Given the description of an element on the screen output the (x, y) to click on. 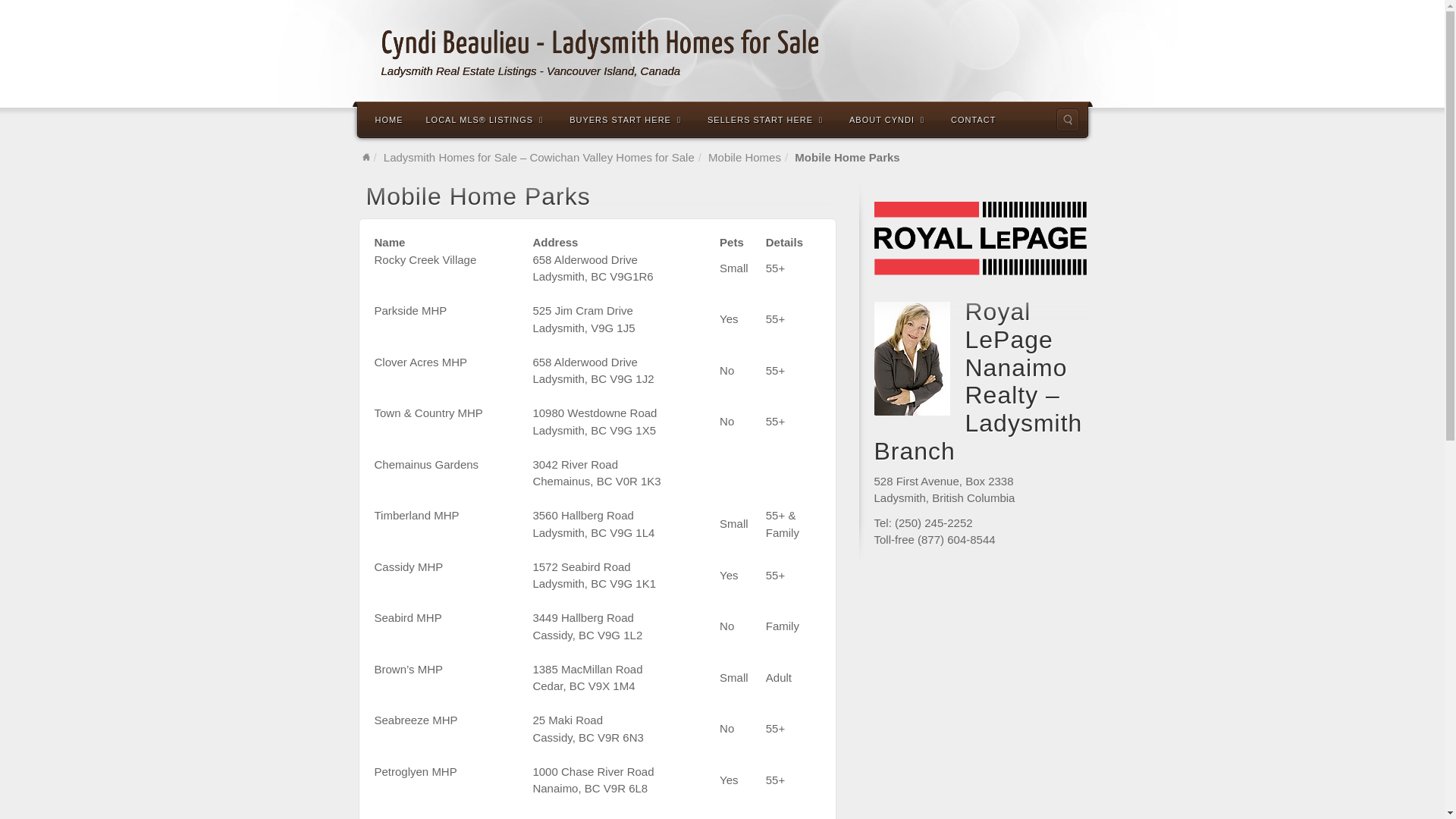
HOME Element type: text (389, 118)
Search the site... Element type: text (1066, 119)
SELLERS START HERE Element type: text (766, 118)
BUYERS START HERE Element type: text (627, 118)
Home Element type: text (366, 157)
CONTACT Element type: text (973, 118)
Cyndi Beaulieu - Ladysmith Homes for Sale Element type: text (599, 44)
ABOUT CYNDI Element type: text (888, 118)
Mobile Homes Element type: text (744, 156)
